Given the description of an element on the screen output the (x, y) to click on. 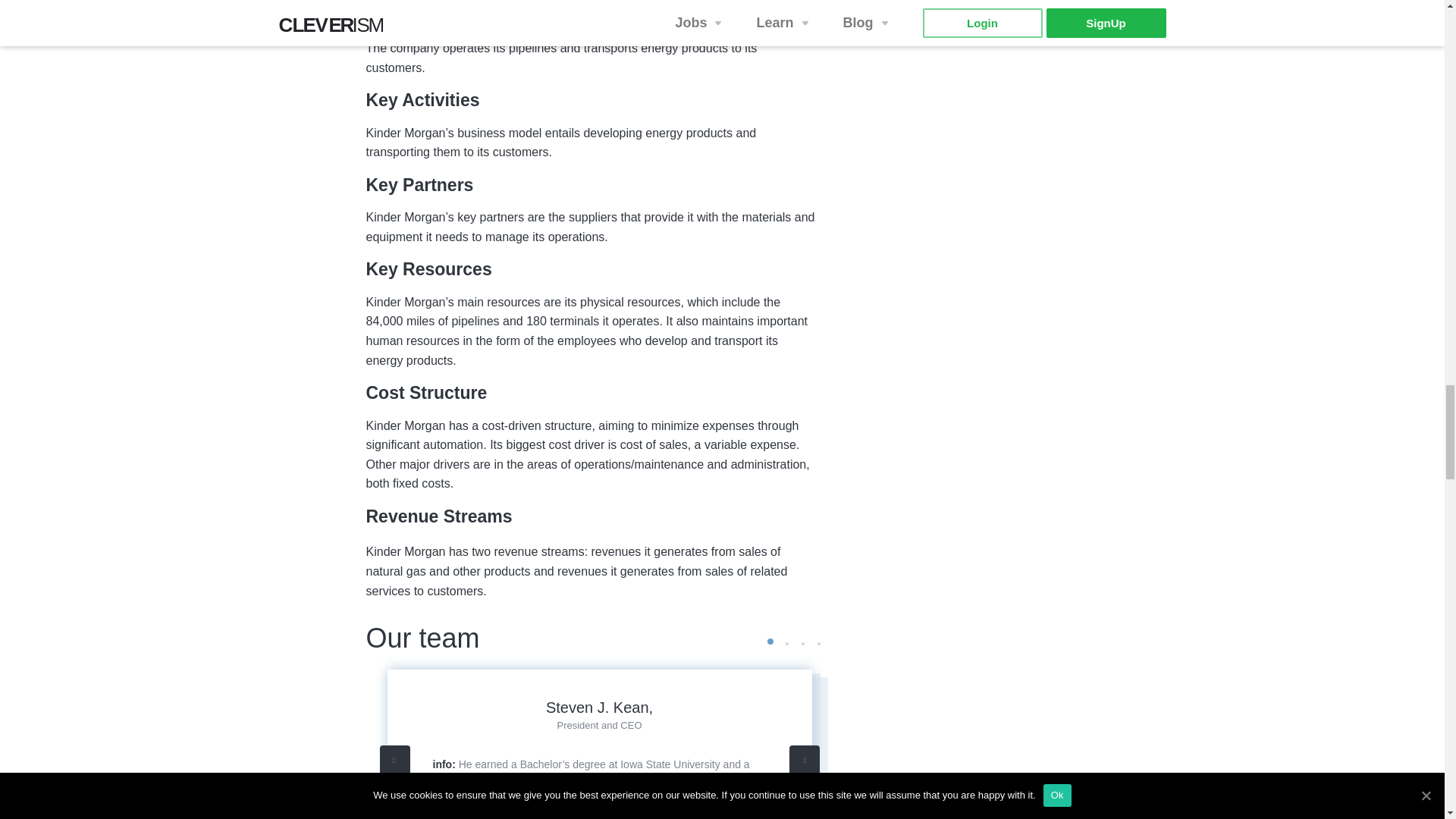
4 (818, 643)
3 (802, 643)
1 (769, 641)
2 (786, 643)
